Given the description of an element on the screen output the (x, y) to click on. 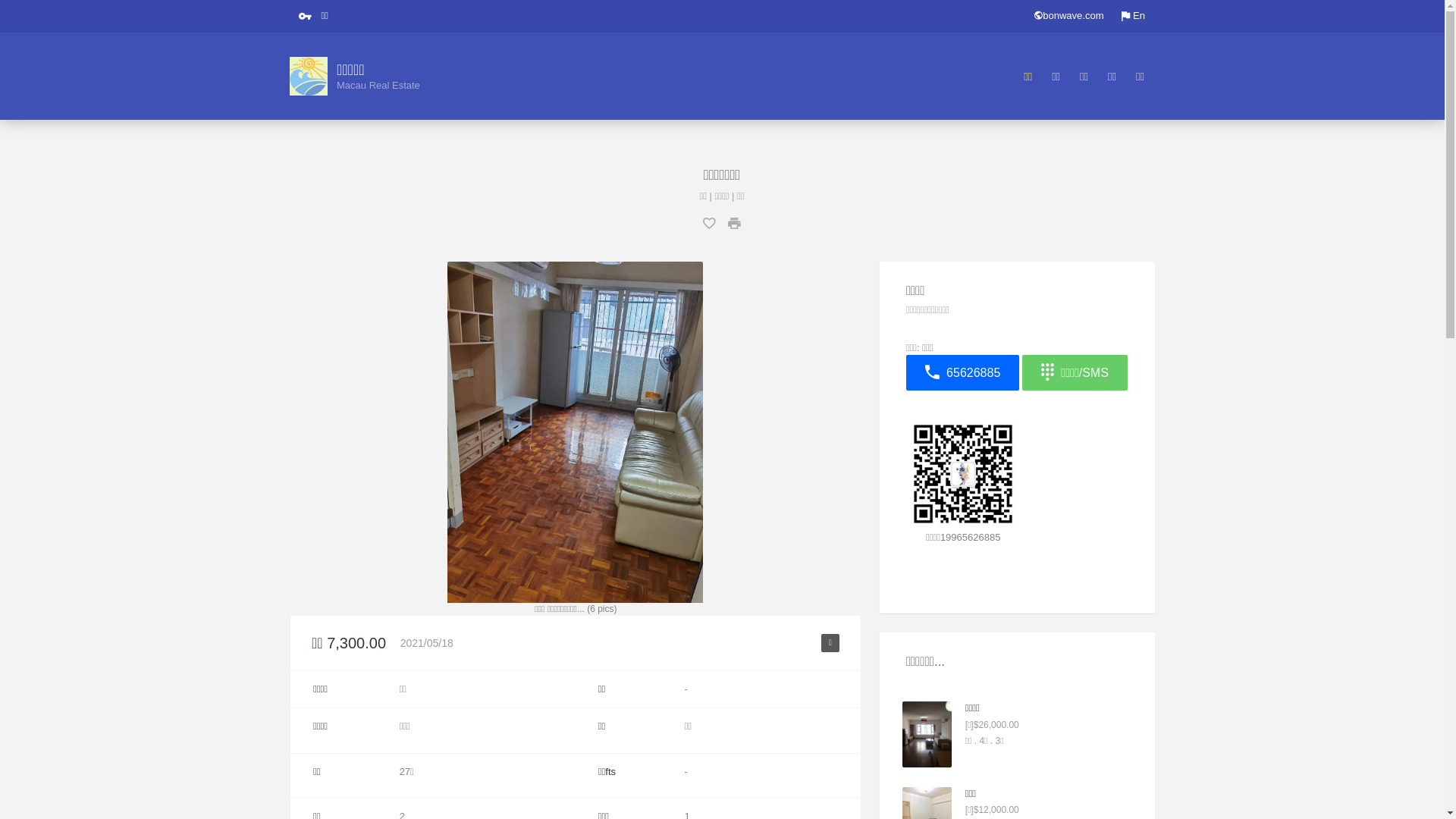
En Element type: text (1133, 16)
bonwave.com Element type: text (1068, 16)
65626885 Element type: text (964, 373)
